Given the description of an element on the screen output the (x, y) to click on. 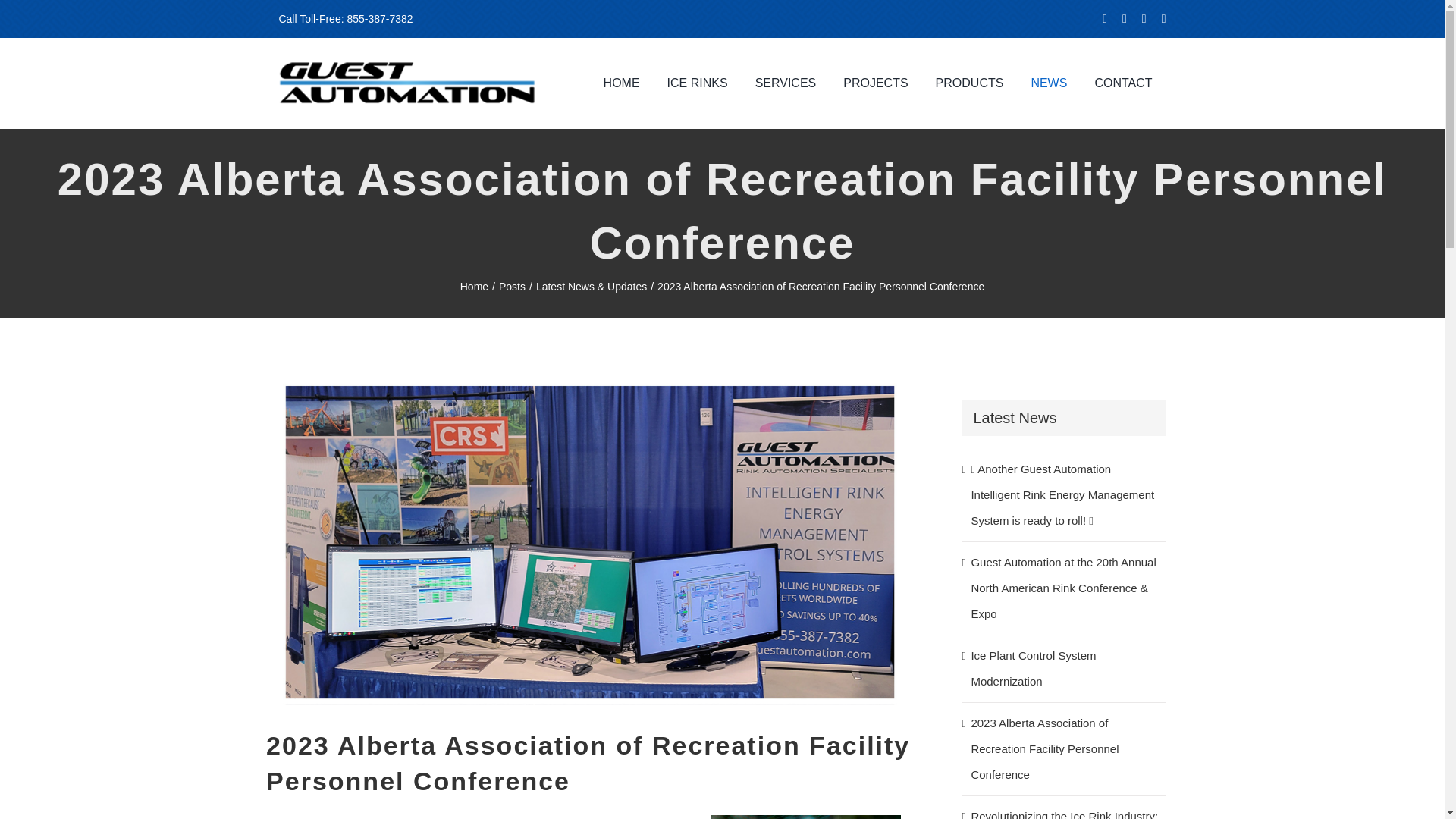
855-387-7382 (379, 19)
PROJECTS (875, 83)
PRODUCTS (969, 83)
Posts (512, 286)
SERVICES (785, 83)
Home (473, 286)
ICE RINKS (697, 83)
CONTACT (1123, 83)
